Given the description of an element on the screen output the (x, y) to click on. 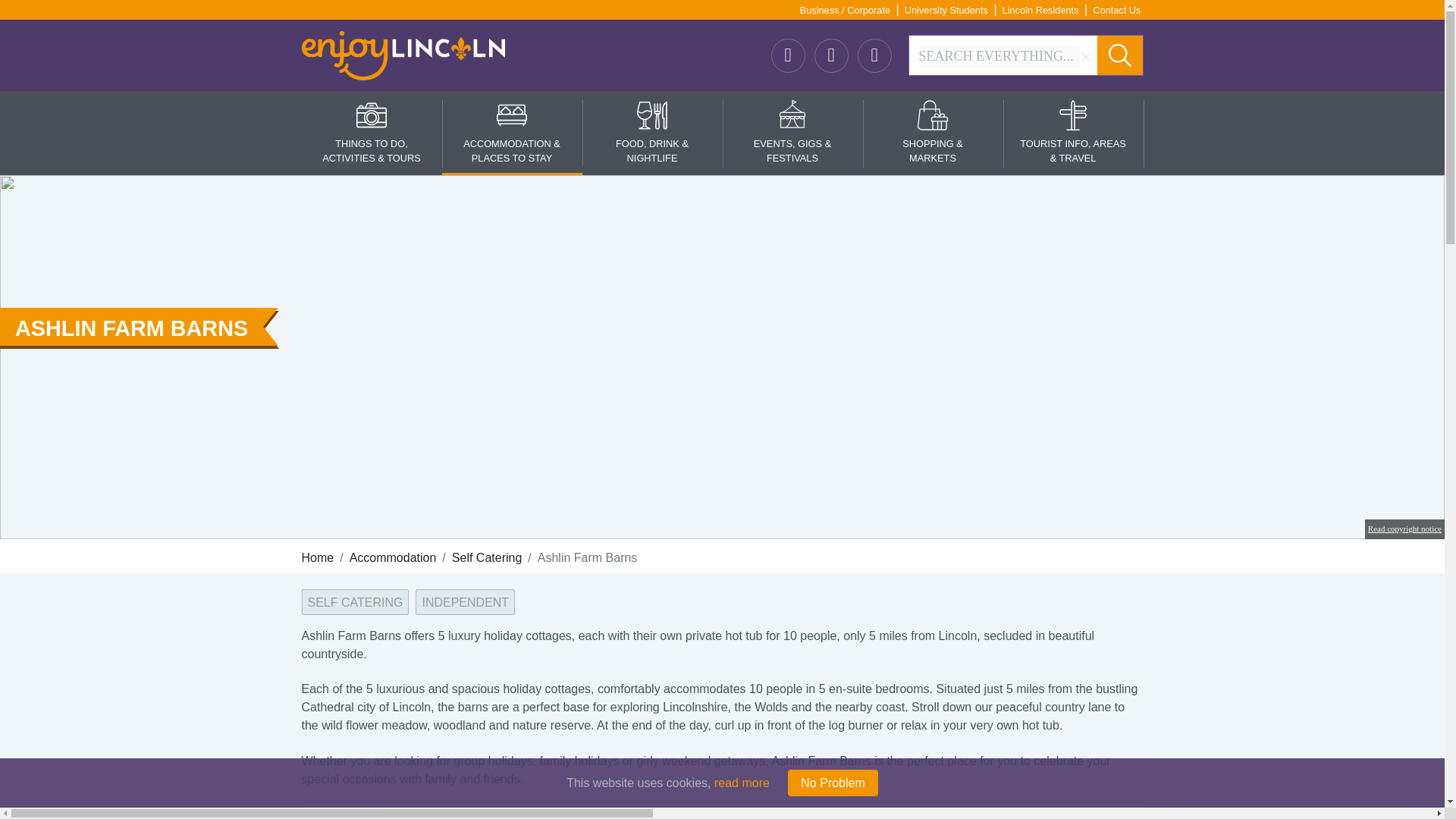
University Students (946, 9)
read more (742, 782)
Contact Us (1116, 9)
No Problem (832, 782)
Lincoln Residents (1040, 9)
